Given the description of an element on the screen output the (x, y) to click on. 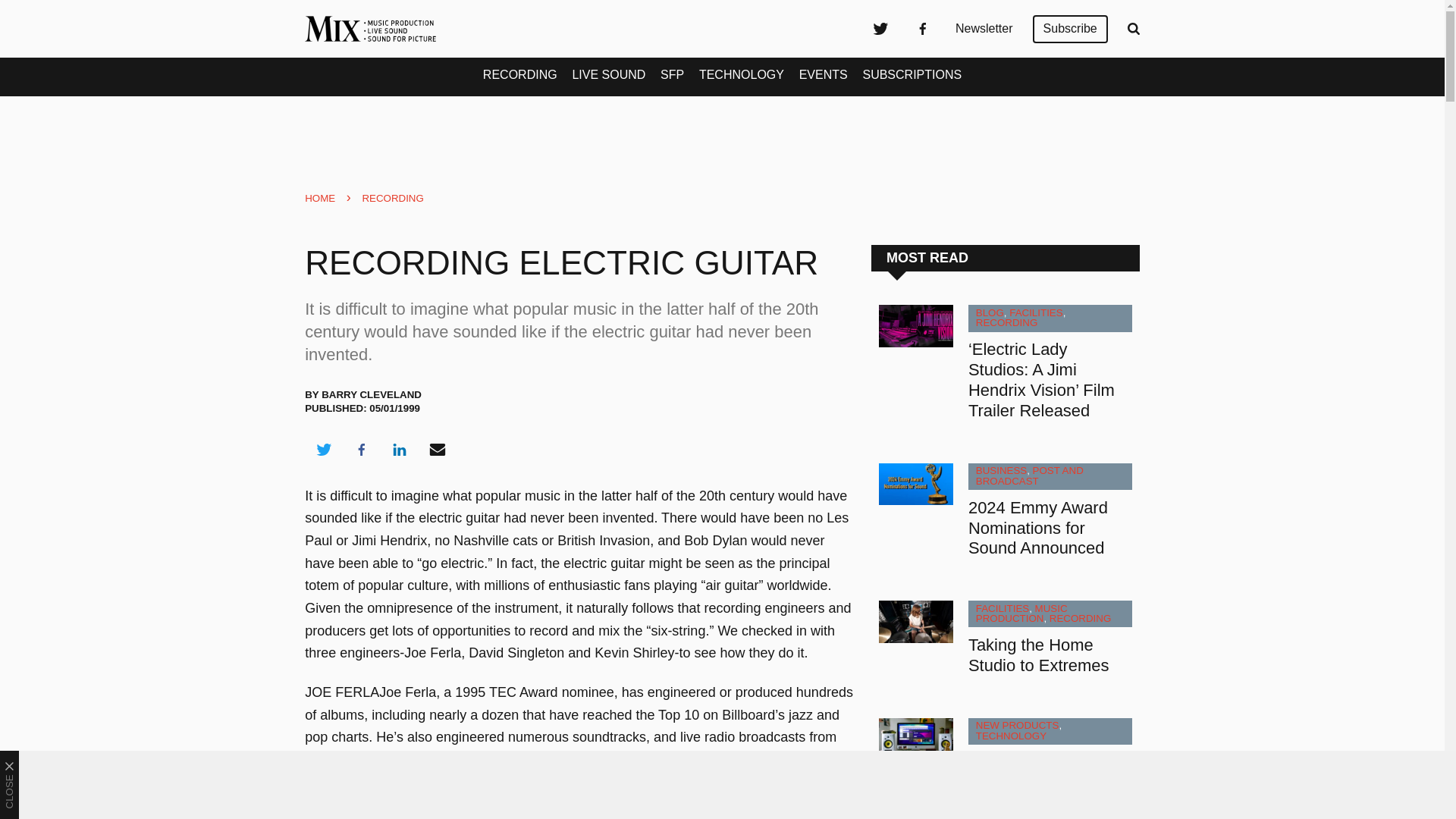
Share on Twitter (323, 449)
Share on Facebook (361, 449)
Share via Email (438, 449)
Share on LinkedIn (399, 449)
